Given the description of an element on the screen output the (x, y) to click on. 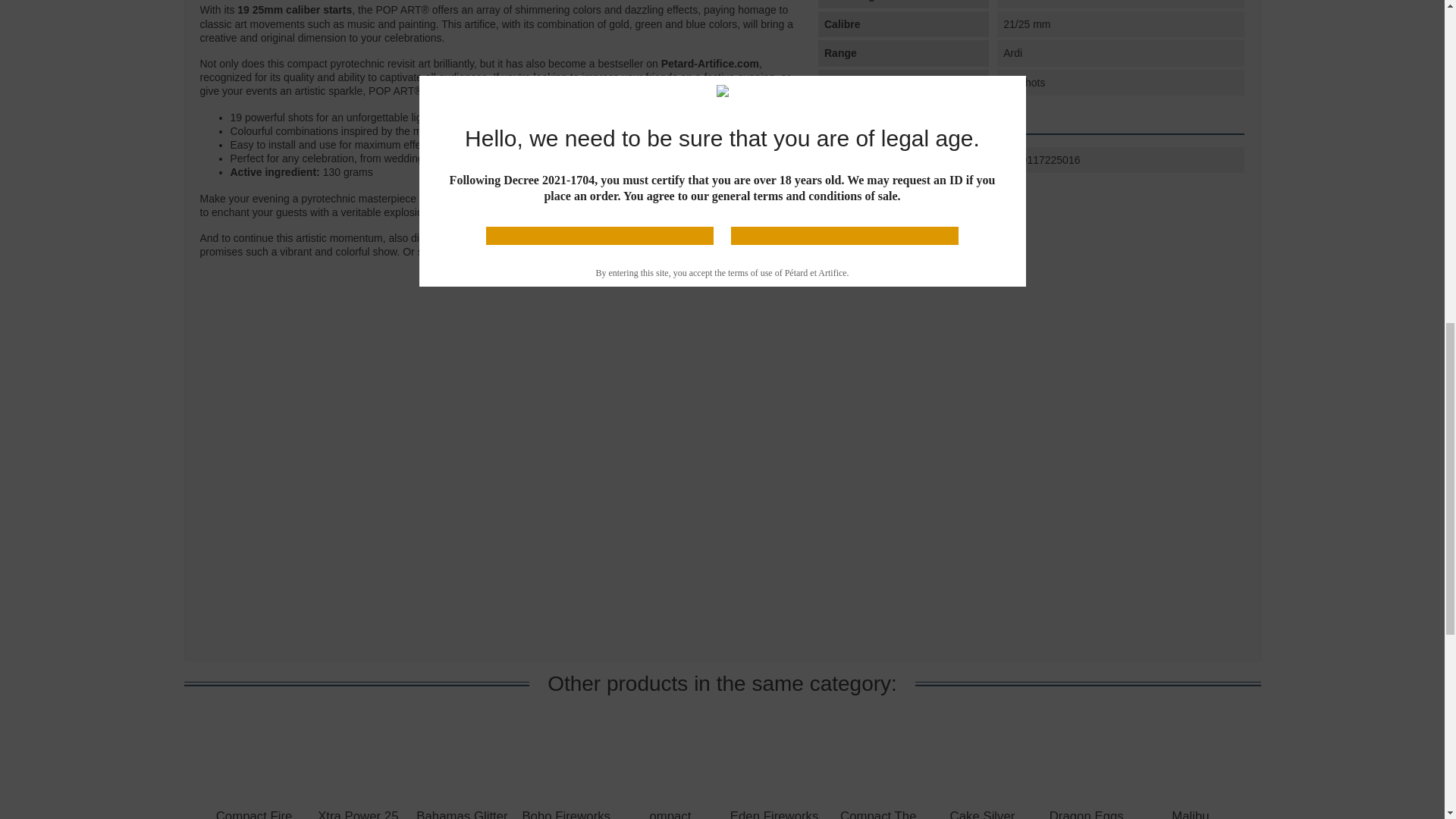
compact Street Art (699, 237)
Boho Fireworks - Soft Power (565, 814)
Xtra Power 25 Fireworks (357, 814)
Dragon Eggs Fireworks (1086, 814)
Cake Silver Palm Fireworks (982, 814)
Petard-Artifice.com (709, 63)
huge Showbox Sensation fireworks display (662, 251)
Bahamas Glitter Fireworks (461, 814)
Malibu Fireworks (1190, 814)
Eden Fireworks (774, 814)
